Given the description of an element on the screen output the (x, y) to click on. 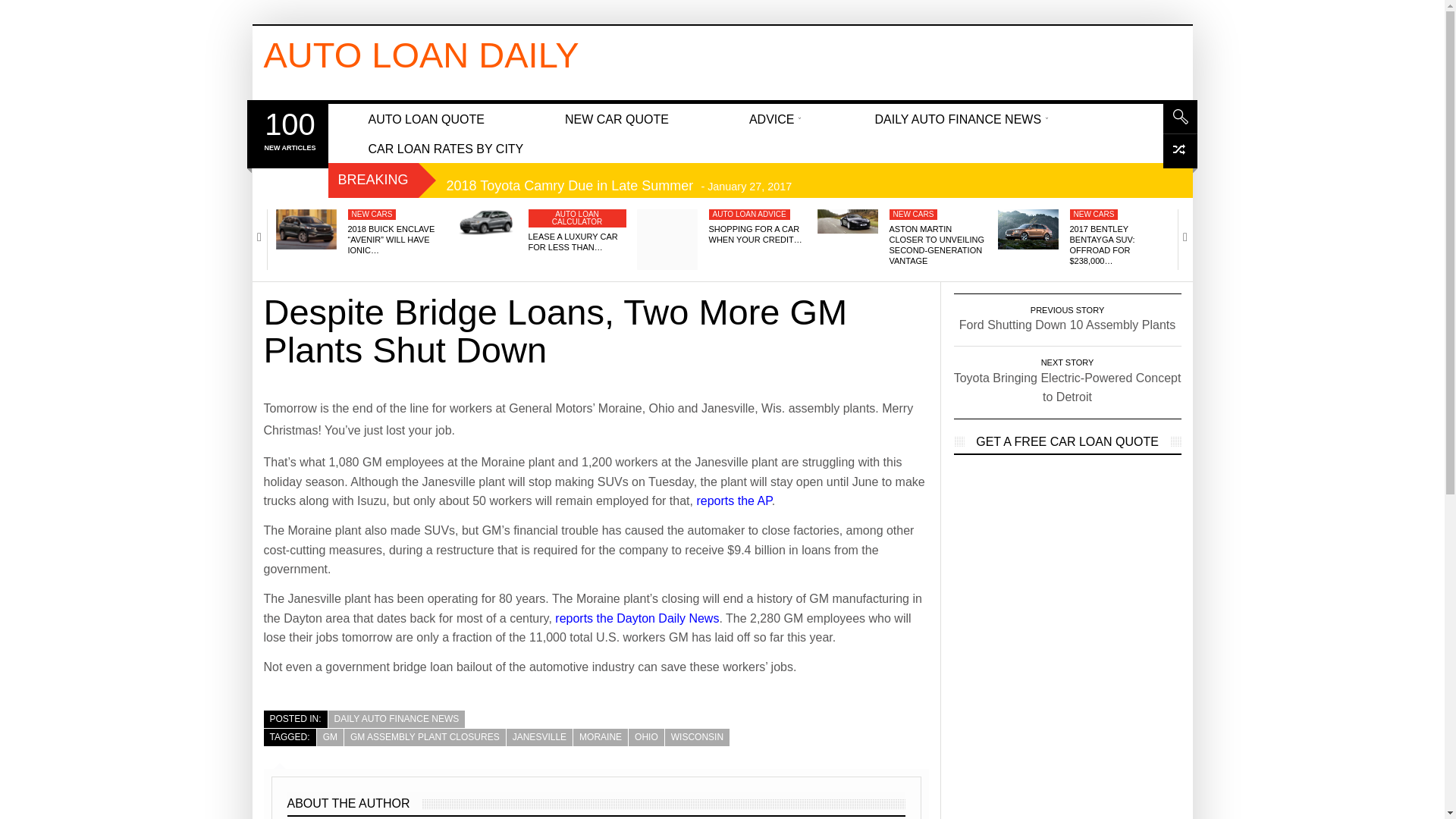
AUTO LOAN QUOTE (425, 118)
Advertisement (762, 59)
NEW CAR QUOTE (616, 118)
AUTO LOAN DAILY (421, 54)
ADVICE (771, 118)
Auto Loan Daily (421, 54)
